Given the description of an element on the screen output the (x, y) to click on. 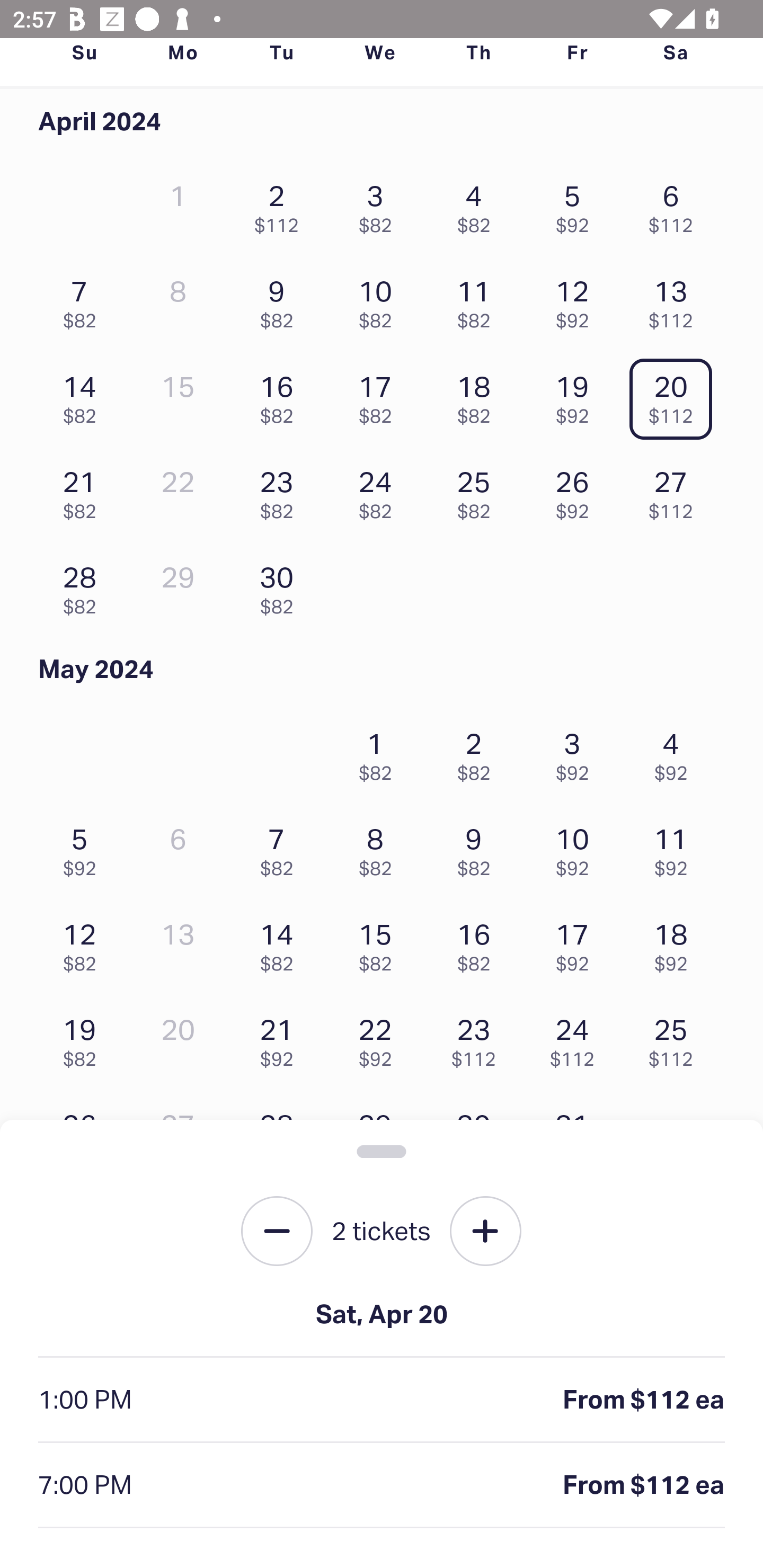
2 $112 (281, 204)
3 $82 (379, 204)
4 $82 (478, 204)
5 $92 (577, 204)
6 $112 (675, 204)
7 $82 (84, 299)
9 $82 (281, 299)
10 $82 (379, 299)
11 $82 (478, 299)
12 $92 (577, 299)
13 $112 (675, 299)
14 $82 (84, 395)
16 $82 (281, 395)
17 $82 (379, 395)
18 $82 (478, 395)
19 $92 (577, 395)
20 $112 (675, 395)
21 $82 (84, 489)
23 $82 (281, 489)
24 $82 (379, 489)
25 $82 (478, 489)
26 $92 (577, 489)
27 $112 (675, 489)
28 $82 (84, 585)
30 $82 (281, 585)
1 $82 (379, 751)
2 $82 (478, 751)
3 $92 (577, 751)
4 $92 (675, 751)
5 $92 (84, 847)
7 $82 (281, 847)
8 $82 (379, 847)
9 $82 (478, 847)
10 $92 (577, 847)
11 $92 (675, 847)
12 $82 (84, 942)
14 $82 (281, 942)
15 $82 (379, 942)
16 $82 (478, 942)
17 $92 (577, 942)
18 $92 (675, 942)
19 $82 (84, 1038)
21 $92 (281, 1038)
22 $92 (379, 1038)
23 $112 (478, 1038)
24 $112 (577, 1038)
25 $112 (675, 1038)
2 $82 (84, 1394)
4 $82 (281, 1394)
5 $82 (379, 1394)
6 $82 (478, 1394)
7 $92 (577, 1394)
8 $92 (675, 1394)
9 $82 (84, 1490)
11 $82 (281, 1490)
12 $82 (379, 1490)
13 $82 (478, 1490)
14 $92 (577, 1490)
15 $92 (675, 1490)
